Given the description of an element on the screen output the (x, y) to click on. 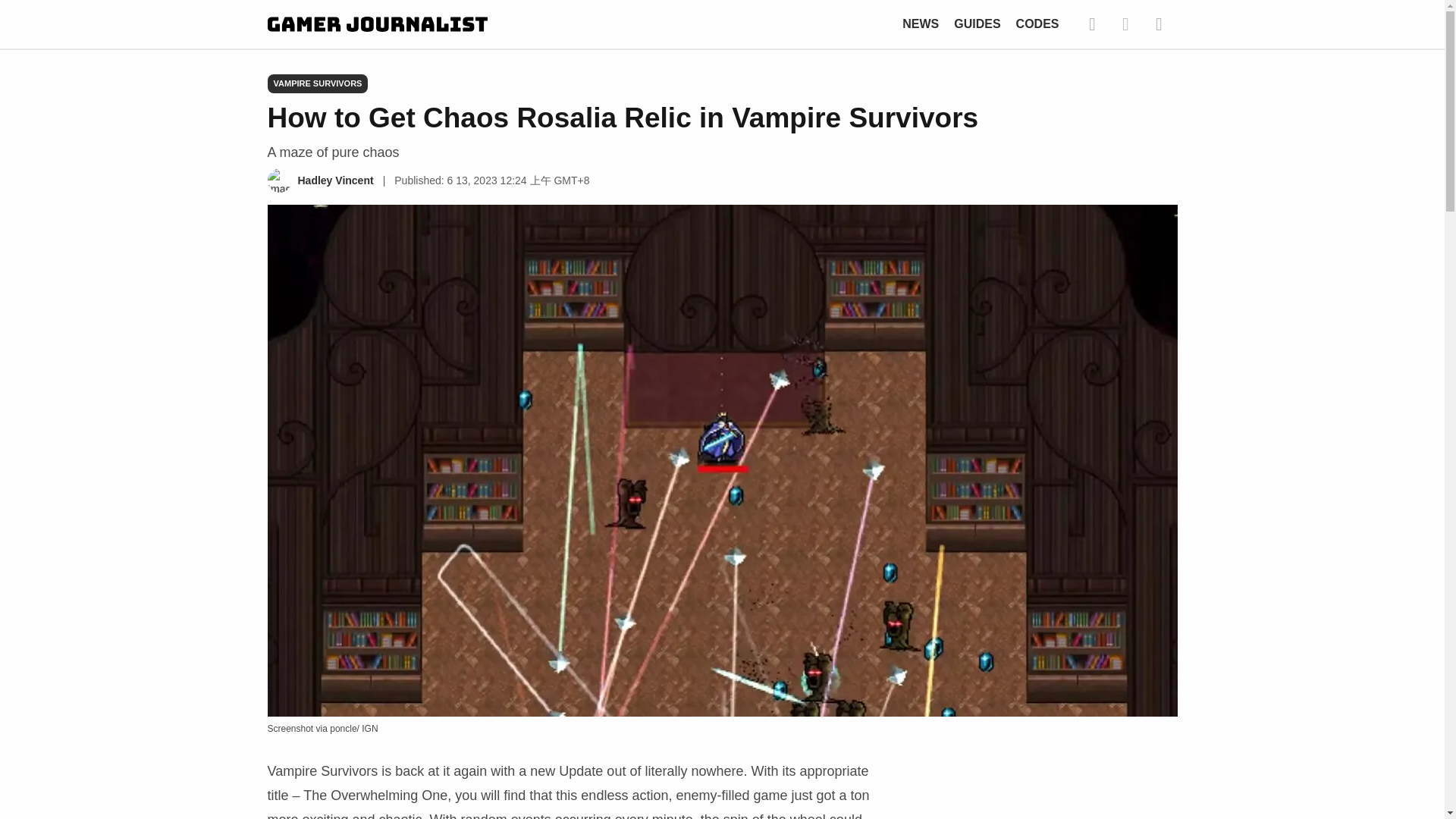
Search (1091, 24)
GUIDES (976, 23)
Dark Mode (1124, 24)
Expand Menu (1157, 24)
NEWS (920, 23)
CODES (1037, 23)
